Given the description of an element on the screen output the (x, y) to click on. 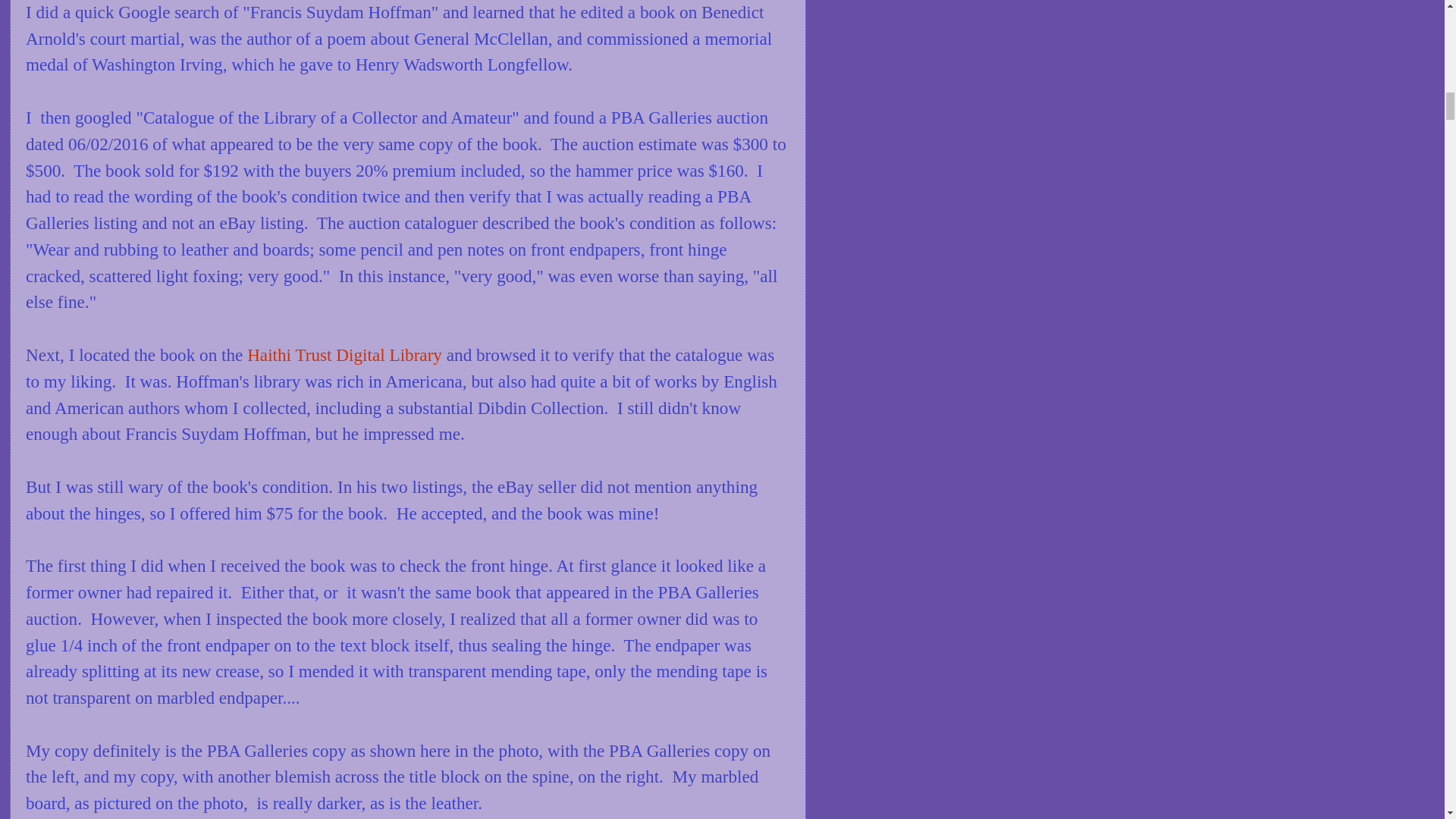
Haithi Trust Digital Library (344, 354)
